Given the description of an element on the screen output the (x, y) to click on. 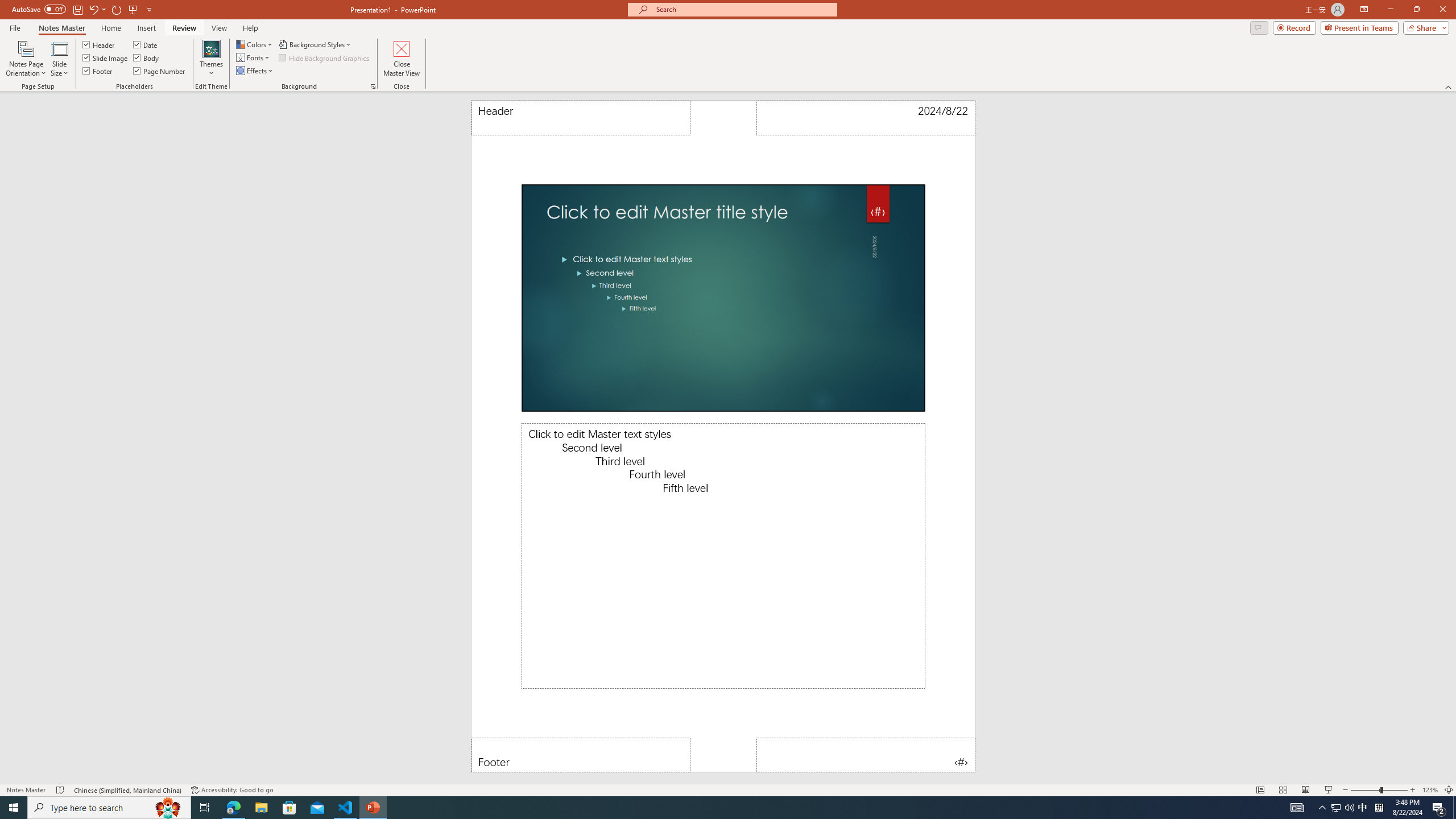
Zoom 123% (1430, 790)
